Given the description of an element on the screen output the (x, y) to click on. 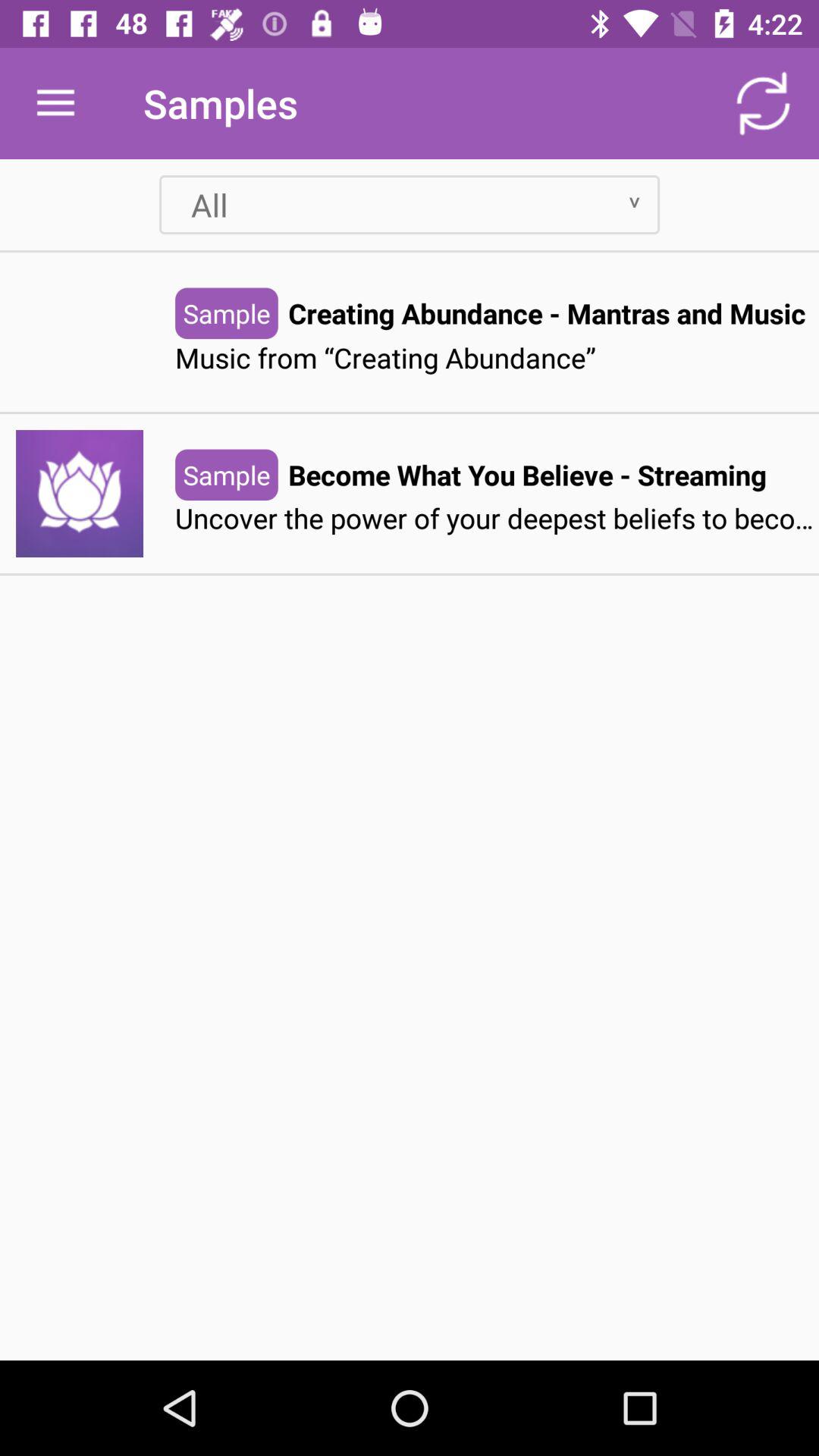
launch item next to samples (55, 103)
